Given the description of an element on the screen output the (x, y) to click on. 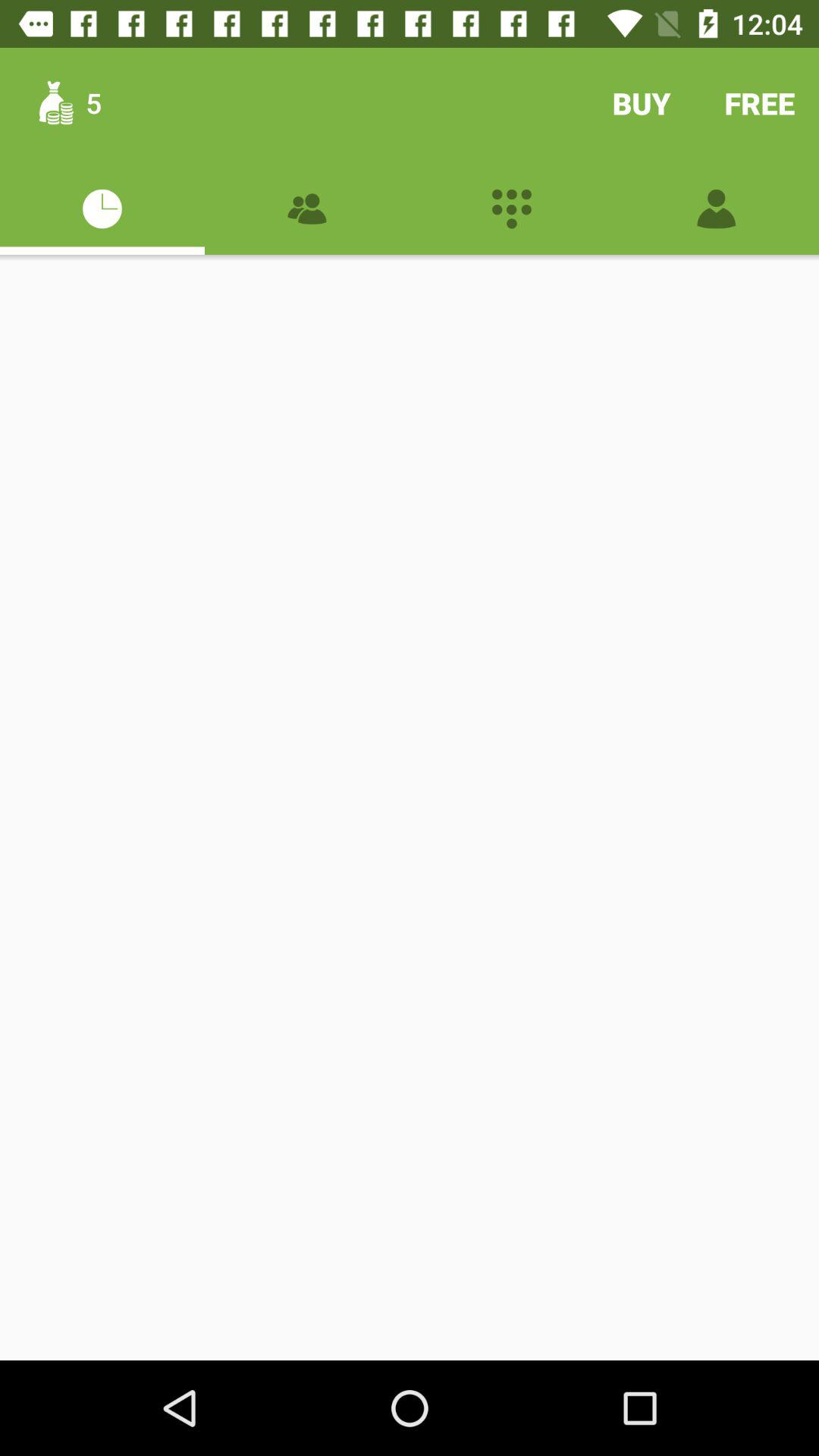
select the icon to the right of the buy item (759, 103)
